Given the description of an element on the screen output the (x, y) to click on. 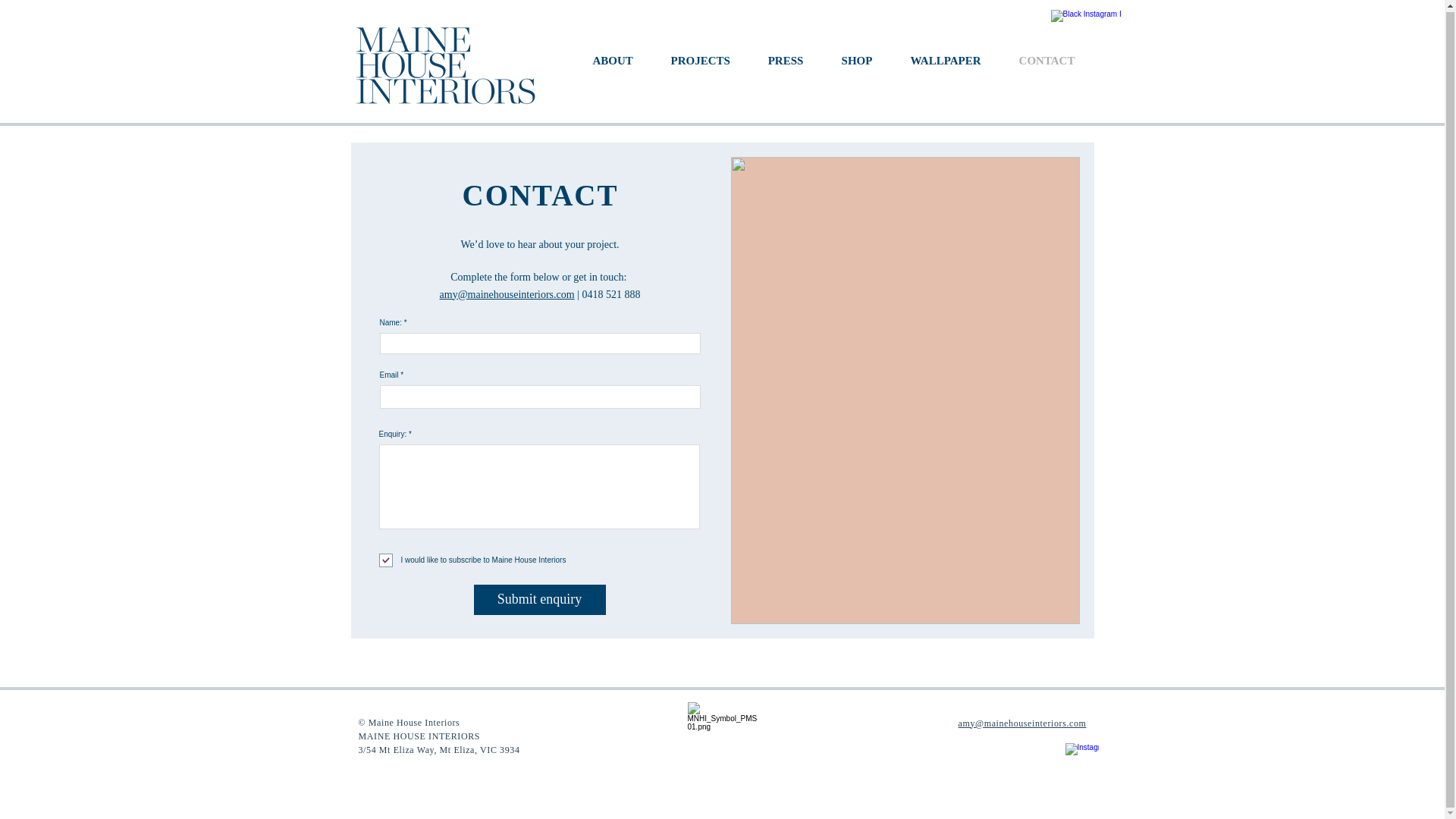
CONTACT (1045, 60)
SHOP (856, 60)
ABOUT (611, 60)
WALLPAPER (945, 60)
PRESS (785, 60)
PROJECTS (700, 60)
Submit enquiry (539, 599)
